Given the description of an element on the screen output the (x, y) to click on. 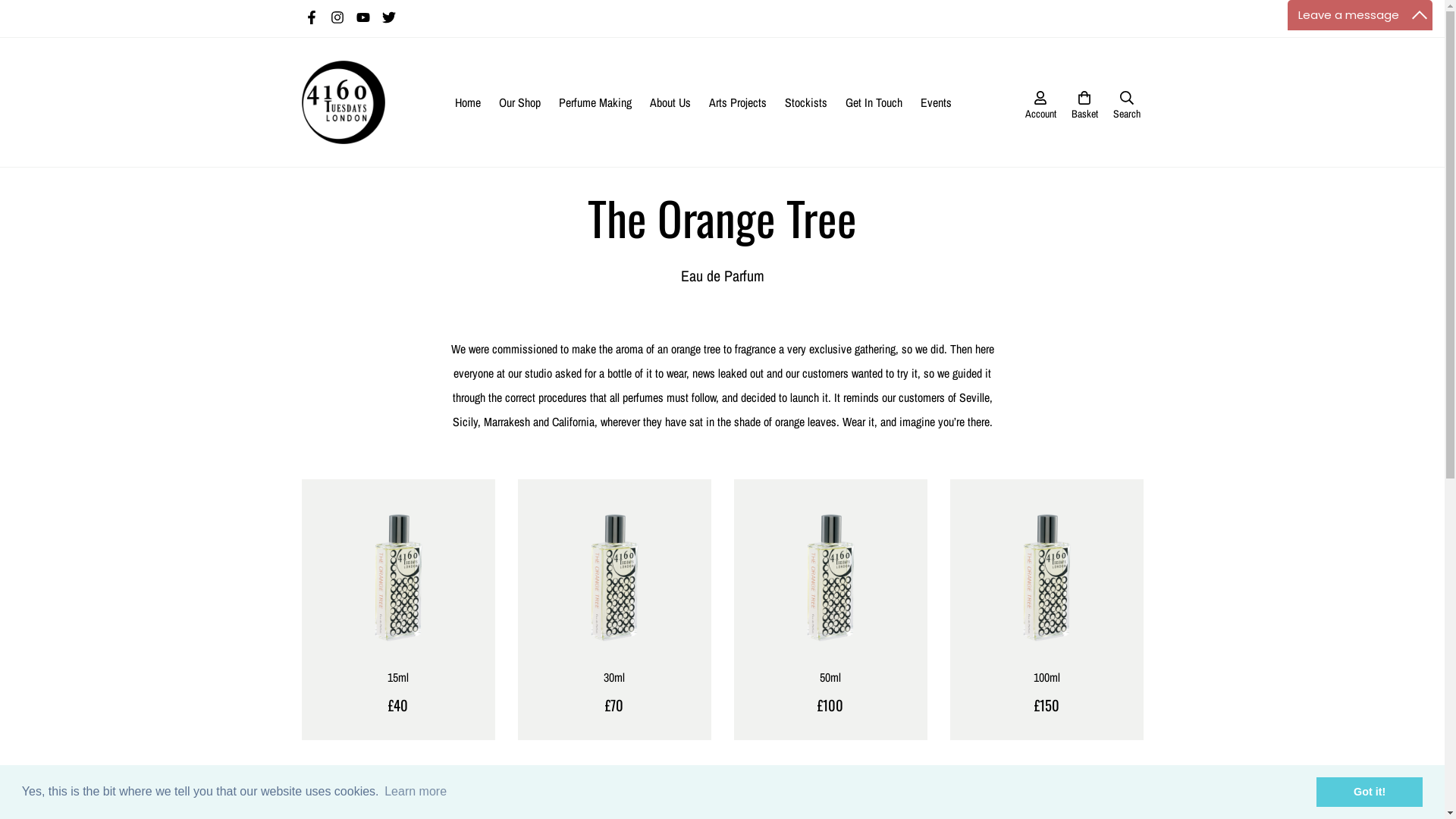
Perfume Making Element type: text (594, 101)
Our Shop Element type: text (519, 101)
Basket Element type: text (1083, 102)
Search Element type: text (1126, 102)
Get In Touch Element type: text (873, 101)
twitter Element type: hover (388, 18)
Learn more Element type: text (415, 791)
instagram Element type: hover (337, 18)
Account Element type: text (1040, 102)
About Us Element type: text (669, 101)
Home Element type: text (467, 101)
facebook Element type: hover (311, 18)
Stockists Element type: text (805, 101)
Events Element type: text (935, 101)
Maximize Element type: hover (1419, 15)
Arts Projects Element type: text (737, 101)
Got it! Element type: text (1369, 791)
youtube Element type: hover (363, 18)
